Given the description of an element on the screen output the (x, y) to click on. 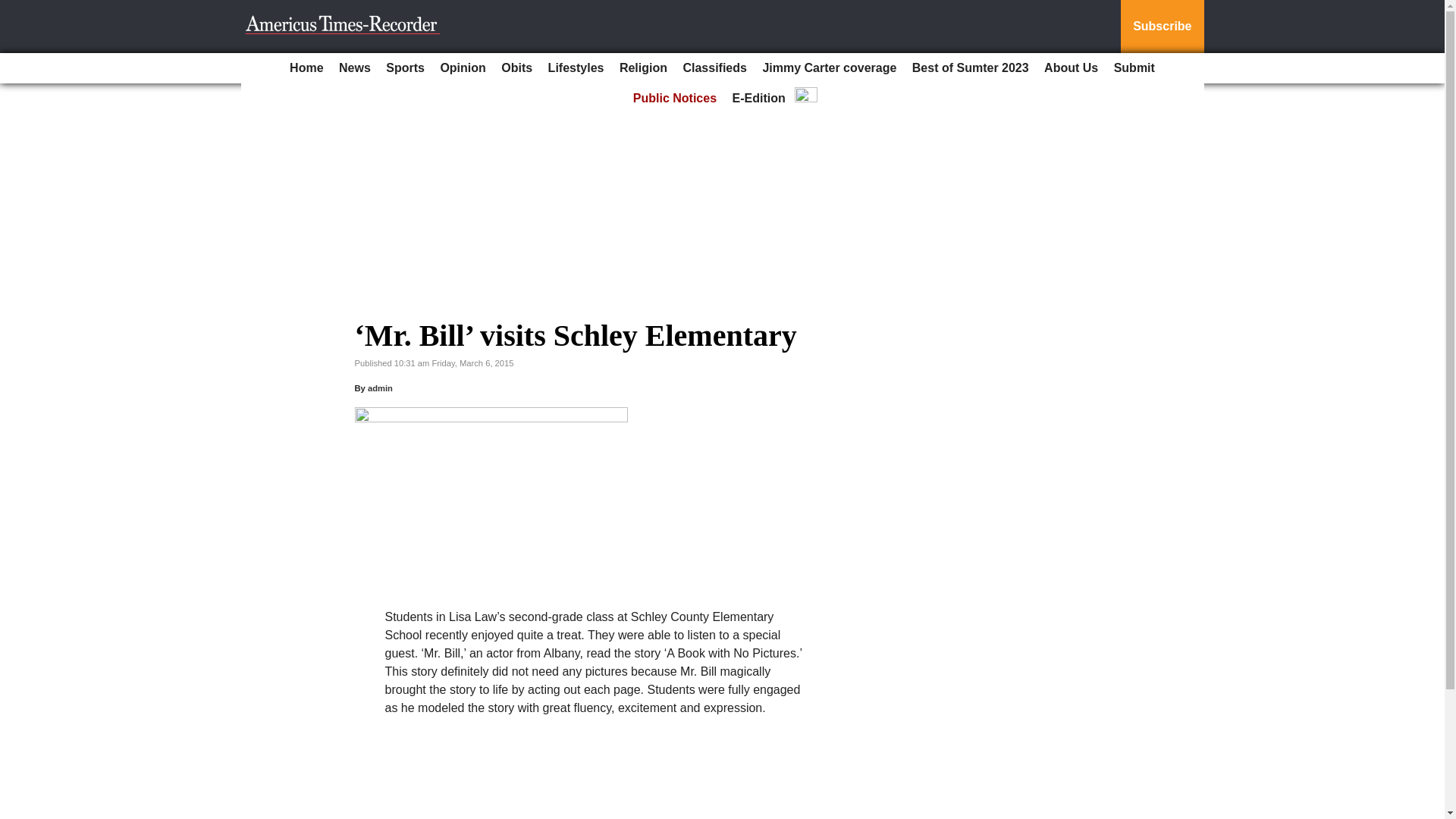
admin (380, 388)
Classifieds (714, 68)
Best of Sumter 2023 (970, 68)
News (355, 68)
Go (13, 9)
Opinion (462, 68)
Lifestyles (575, 68)
Public Notices (674, 98)
Submit (1134, 68)
Religion (642, 68)
